Given the description of an element on the screen output the (x, y) to click on. 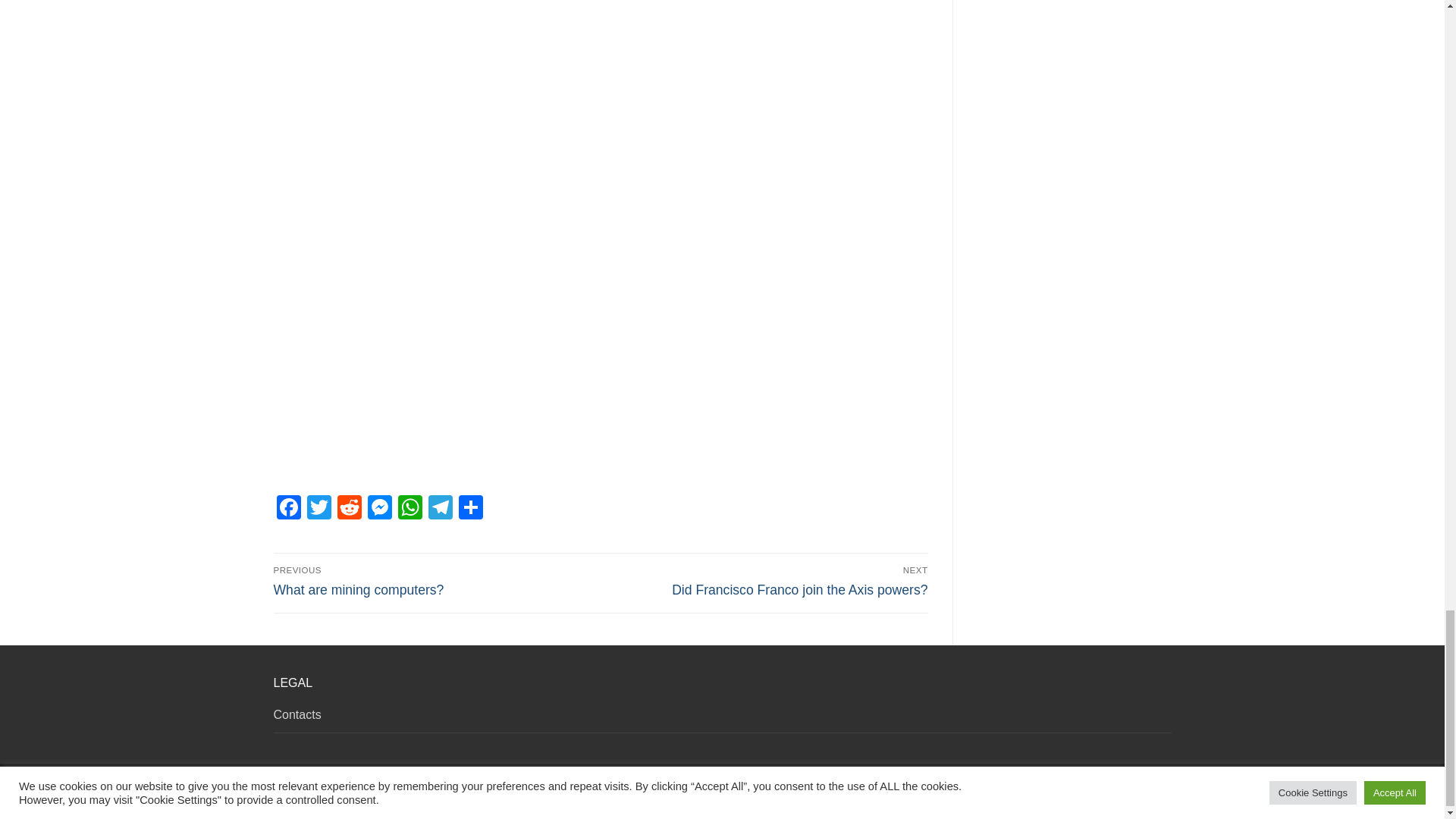
Facebook (287, 509)
WhatsApp (409, 509)
Facebook (287, 509)
Twitter (317, 509)
Reddit (348, 509)
Telegram (439, 509)
Messenger (379, 509)
Twitter (317, 509)
Telegram (439, 509)
